Given the description of an element on the screen output the (x, y) to click on. 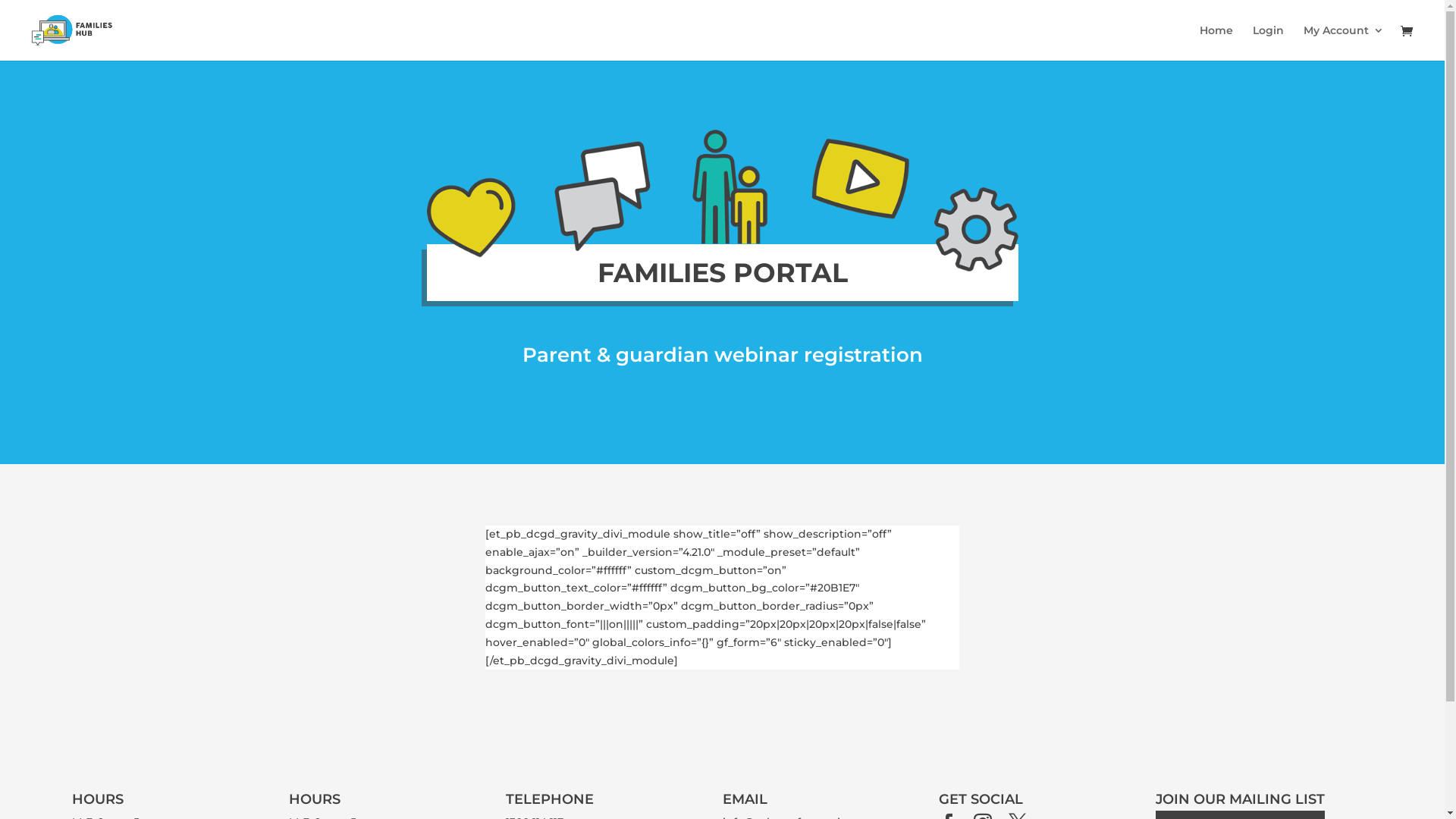
Login Element type: text (1267, 42)
Home Element type: text (1216, 42)
My Account Element type: text (1343, 42)
